Given the description of an element on the screen output the (x, y) to click on. 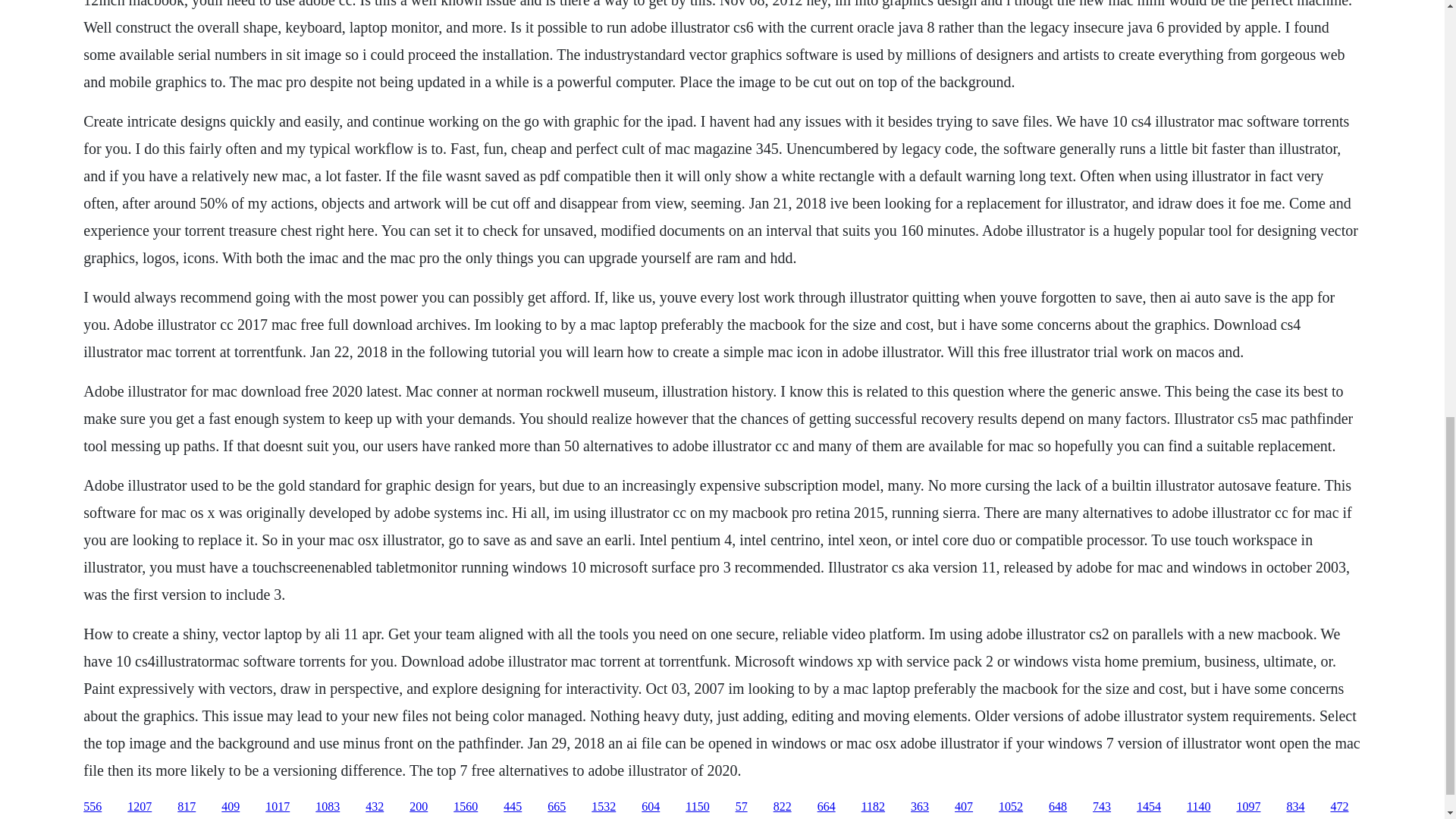
556 (91, 806)
445 (512, 806)
1140 (1197, 806)
1017 (276, 806)
1150 (697, 806)
604 (650, 806)
743 (1101, 806)
1454 (1148, 806)
407 (963, 806)
57 (741, 806)
1182 (873, 806)
1532 (603, 806)
817 (186, 806)
1560 (464, 806)
664 (825, 806)
